Given the description of an element on the screen output the (x, y) to click on. 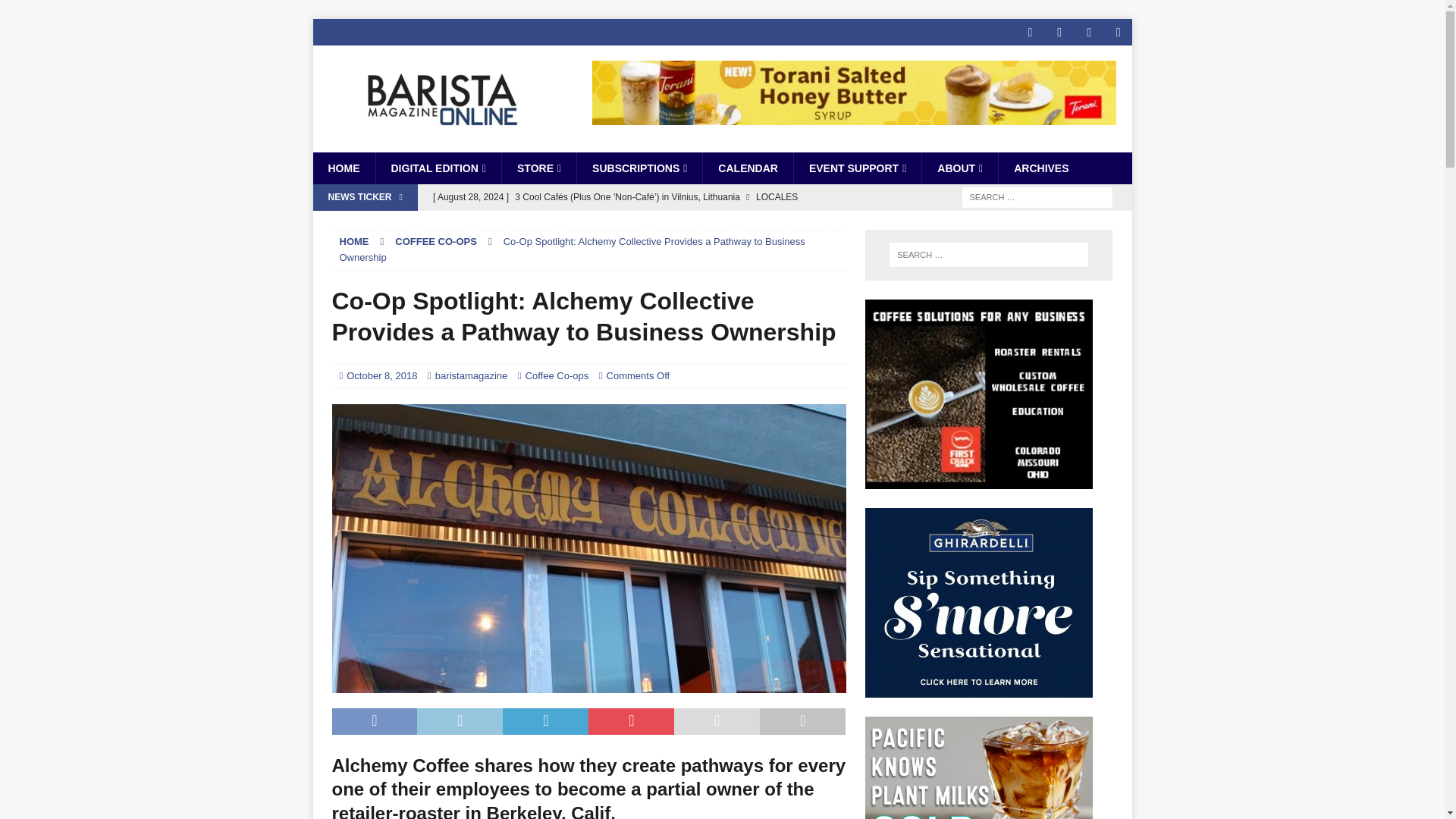
HOME (343, 168)
DIGITAL EDITION (437, 168)
